Given the description of an element on the screen output the (x, y) to click on. 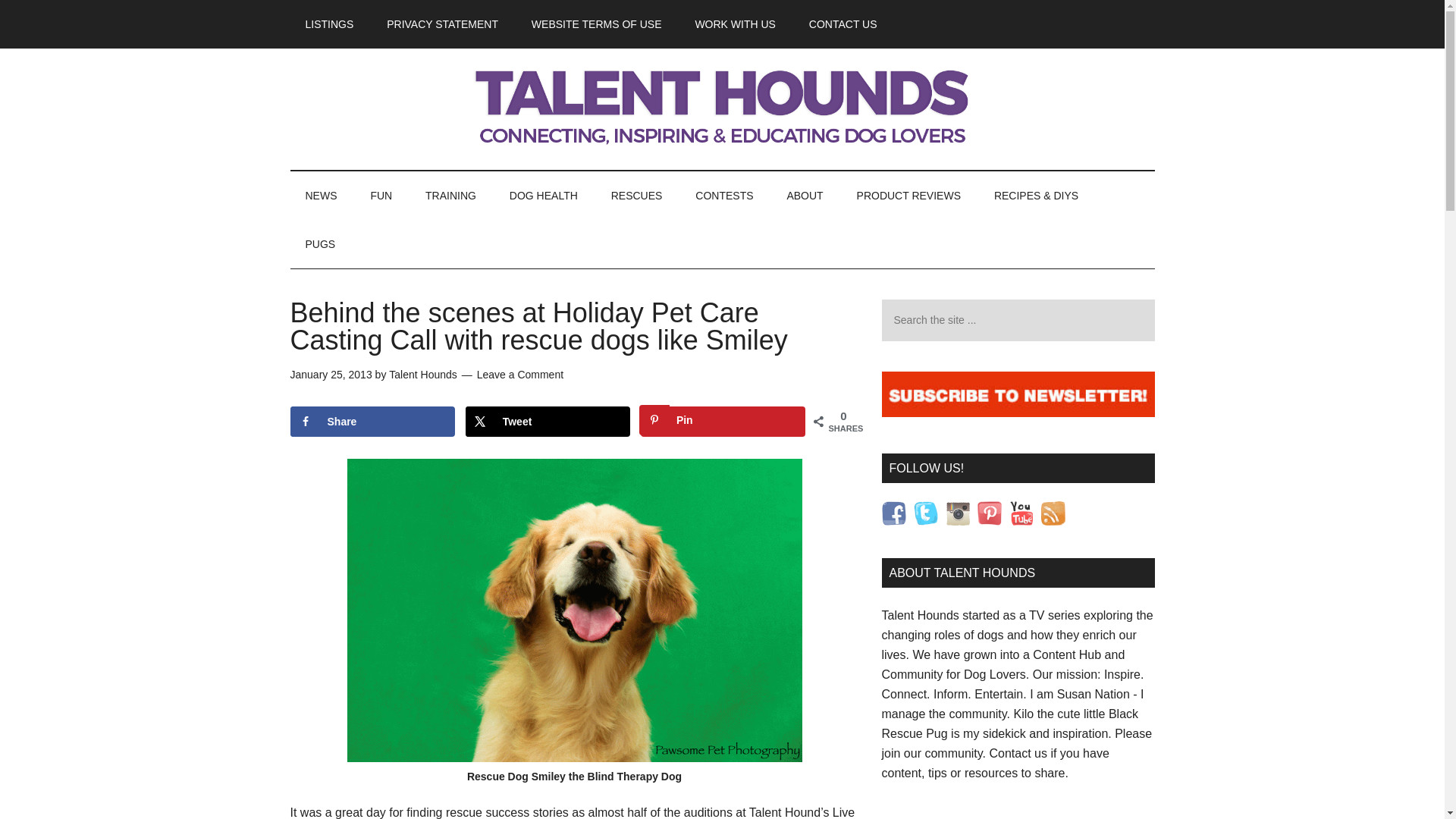
WORK WITH US (734, 24)
Subscribe (1017, 412)
Follow Us on YouTube (1020, 513)
CONTACT US (842, 24)
Facebook (892, 513)
Follow Us on RSS (1052, 513)
NEWS (320, 195)
PRIVACY STATEMENT (442, 24)
